Given the description of an element on the screen output the (x, y) to click on. 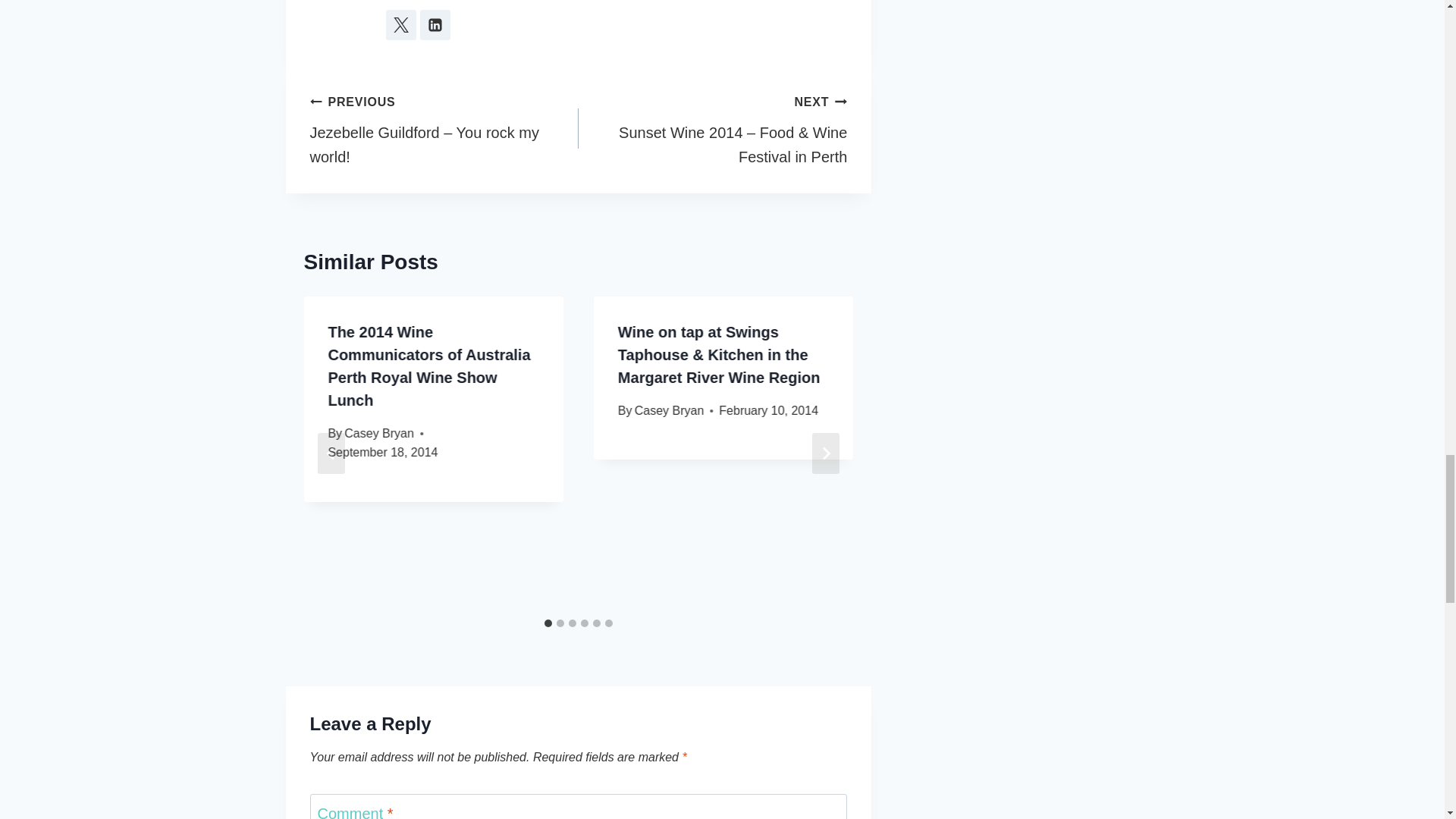
Follow Casey Bryan on X formerly Twitter (399, 24)
Follow Casey Bryan on Linkedin (434, 24)
